Given the description of an element on the screen output the (x, y) to click on. 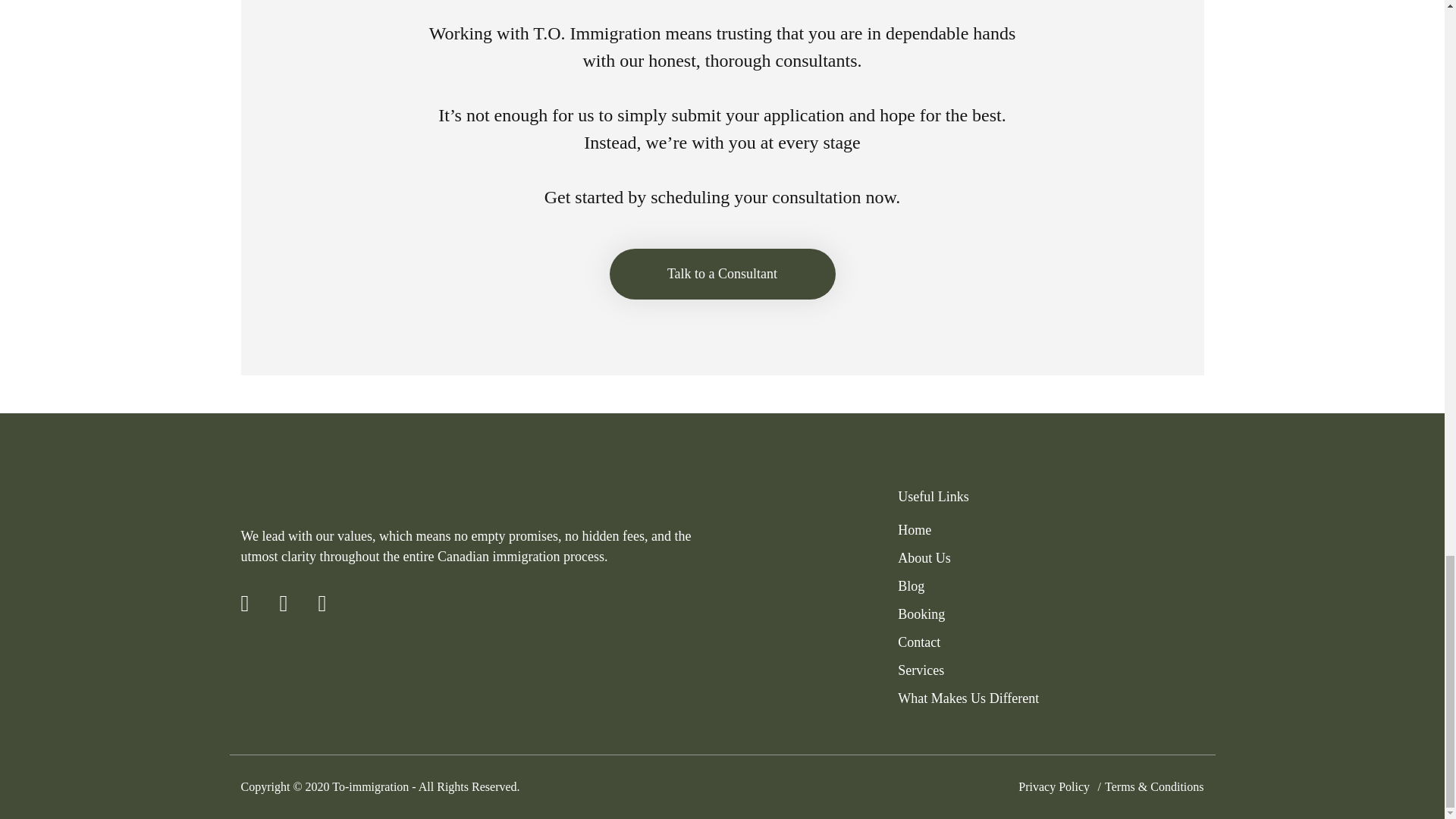
About Us (924, 557)
Services (920, 670)
Contact (919, 642)
Talk to a Consultant (722, 273)
What Makes Us Different (968, 698)
Blog (911, 585)
Privacy Policy (1053, 786)
Home (914, 529)
Booking (921, 613)
